Given the description of an element on the screen output the (x, y) to click on. 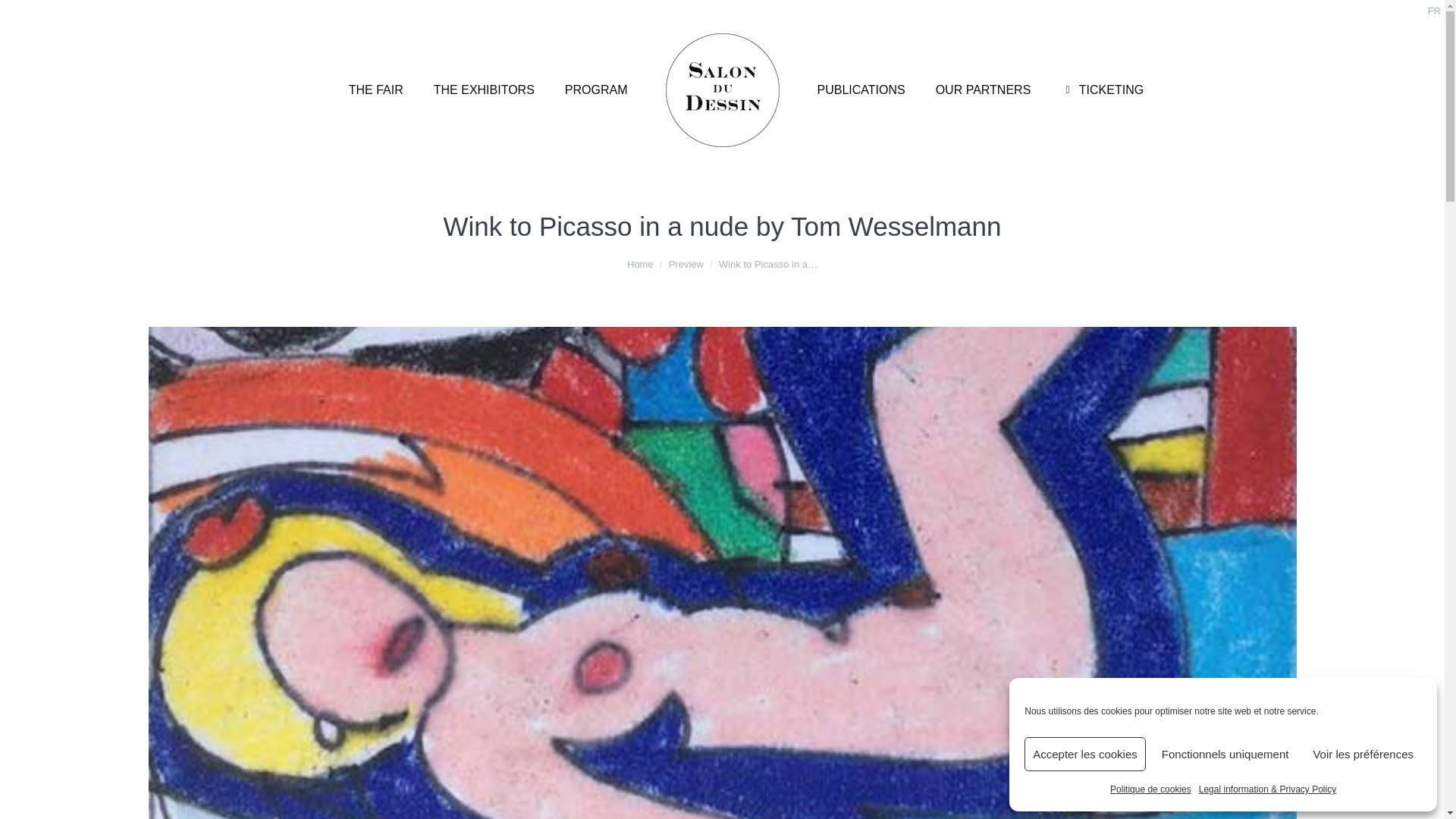
FR (1434, 11)
PROGRAM (595, 89)
Home (640, 264)
THE EXHIBITORS (483, 89)
Preview (685, 264)
THE FAIR (376, 89)
Accepter les cookies (1085, 754)
Fonctionnels uniquement (1225, 754)
PUBLICATIONS (860, 89)
Politique de cookies (1150, 789)
